Given the description of an element on the screen output the (x, y) to click on. 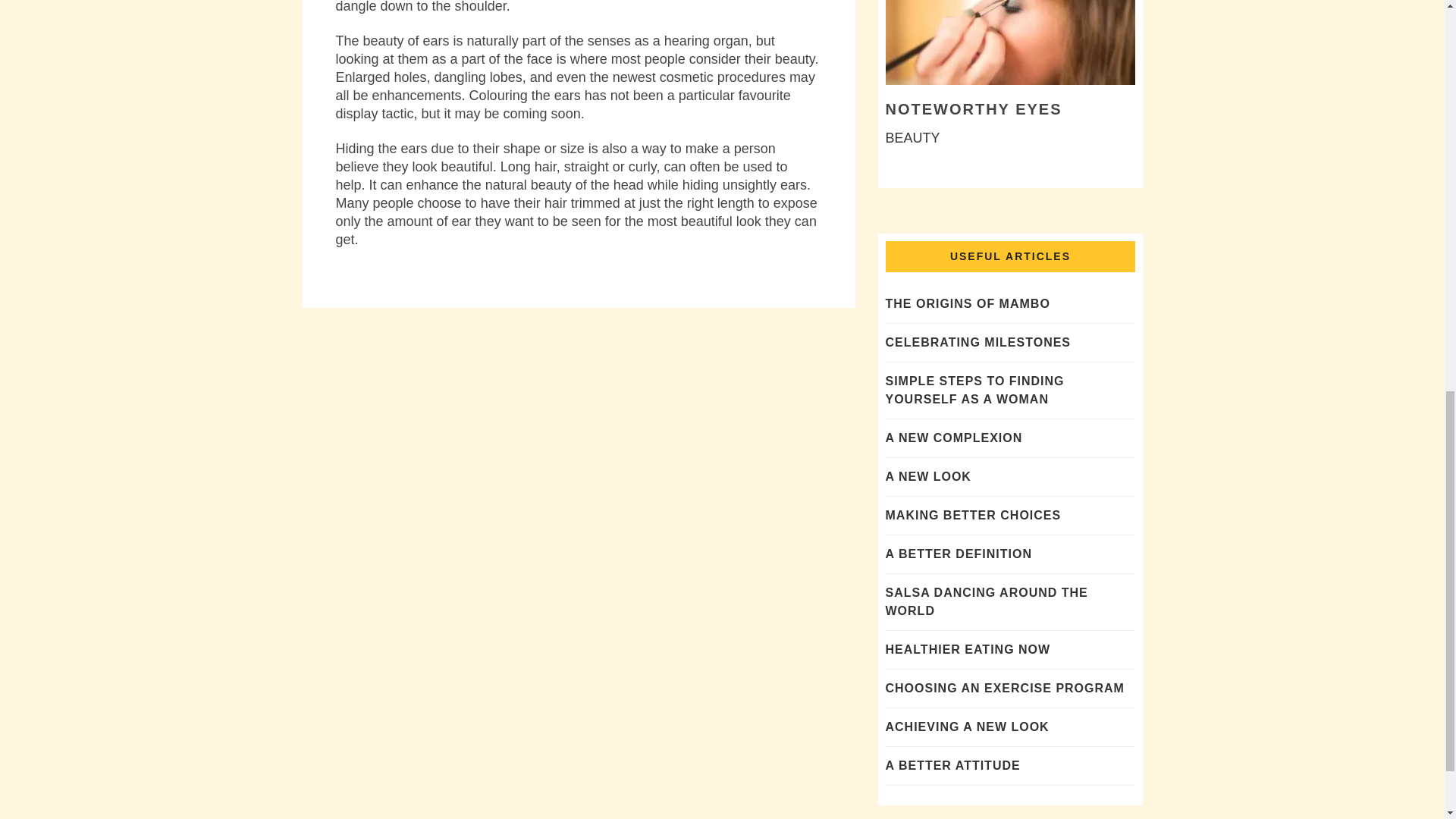
SALSA DANCING AROUND THE WORLD (986, 601)
A BETTER ATTITUDE (952, 765)
BEAUTY (912, 137)
A NEW COMPLEXION (954, 437)
THE ORIGINS OF MAMBO (967, 303)
HEALTHIER EATING NOW (968, 649)
SIMPLE STEPS TO FINDING YOURSELF AS A WOMAN (974, 389)
NOTEWORTHY EYES (973, 108)
ACHIEVING A NEW LOOK (967, 726)
CHOOSING AN EXERCISE PROGRAM (1004, 687)
MAKING BETTER CHOICES (973, 514)
CELEBRATING MILESTONES (978, 341)
A BETTER DEFINITION (958, 553)
A NEW LOOK (928, 476)
